Given the description of an element on the screen output the (x, y) to click on. 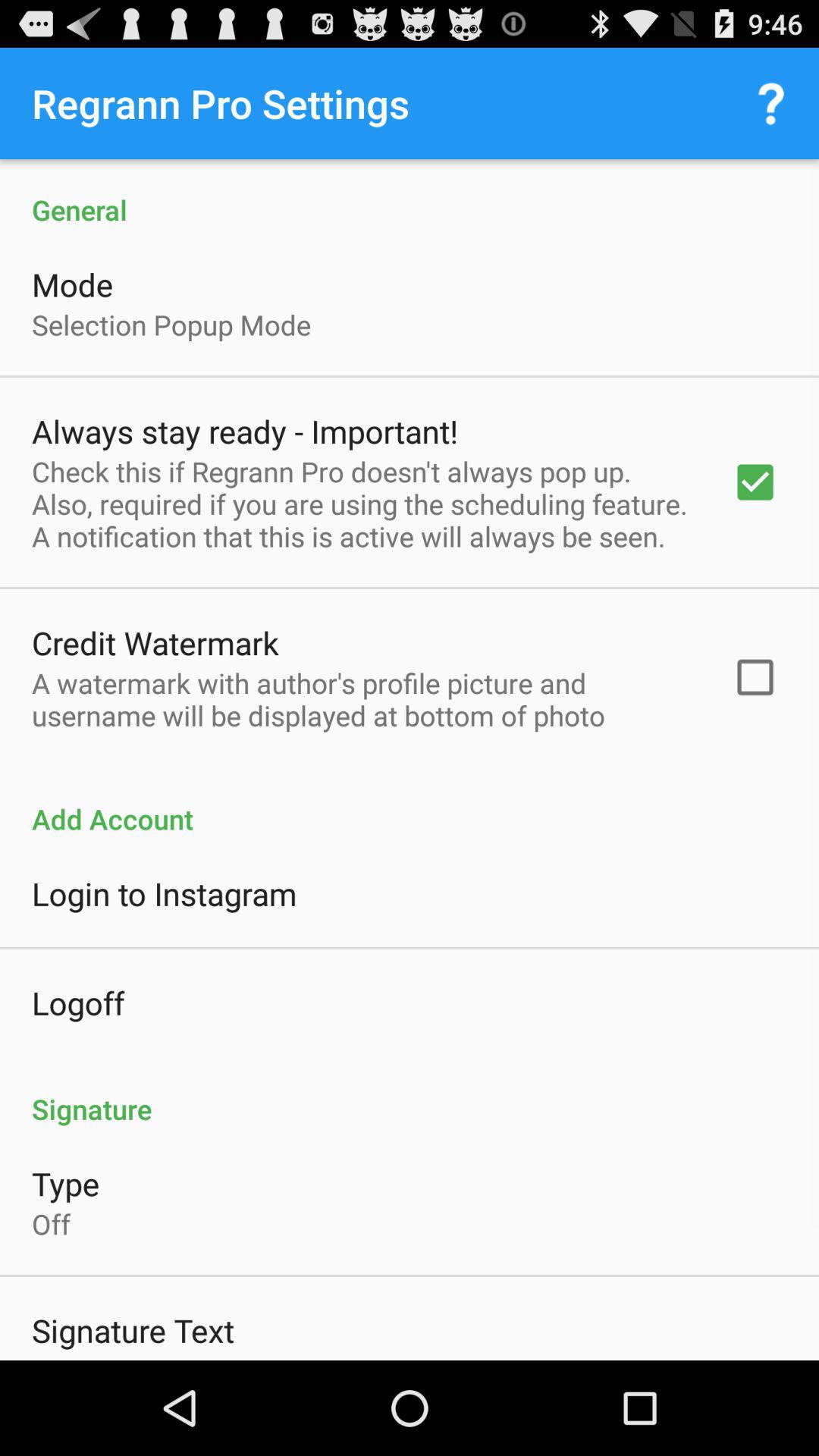
turn off icon below the always stay ready item (361, 503)
